Given the description of an element on the screen output the (x, y) to click on. 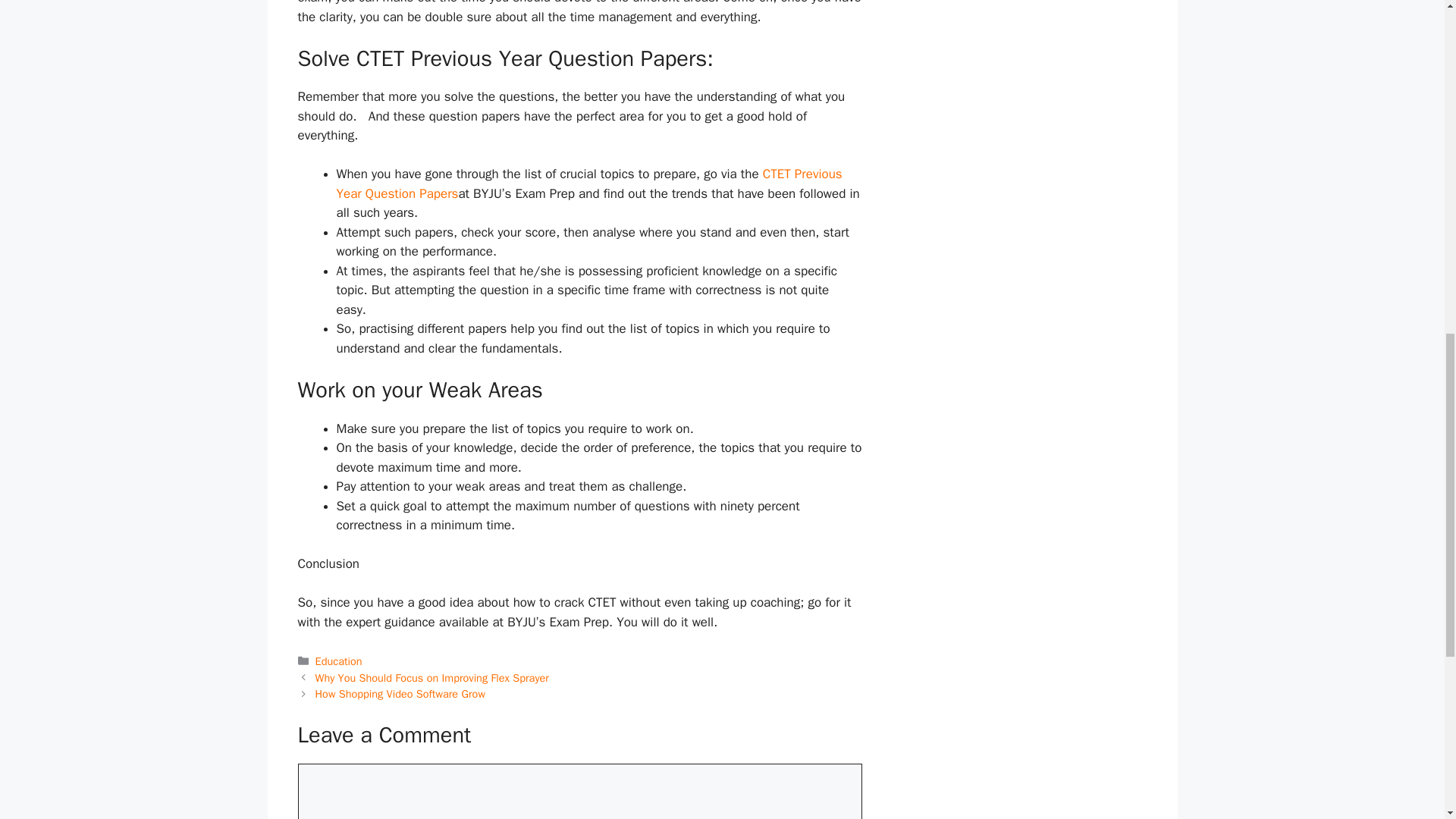
How Shopping Video Software Grow (399, 694)
Education (338, 661)
Why You Should Focus on Improving Flex Sprayer (431, 677)
Scroll back to top (1406, 720)
CTET Previous Year Question Papers (589, 183)
